Given the description of an element on the screen output the (x, y) to click on. 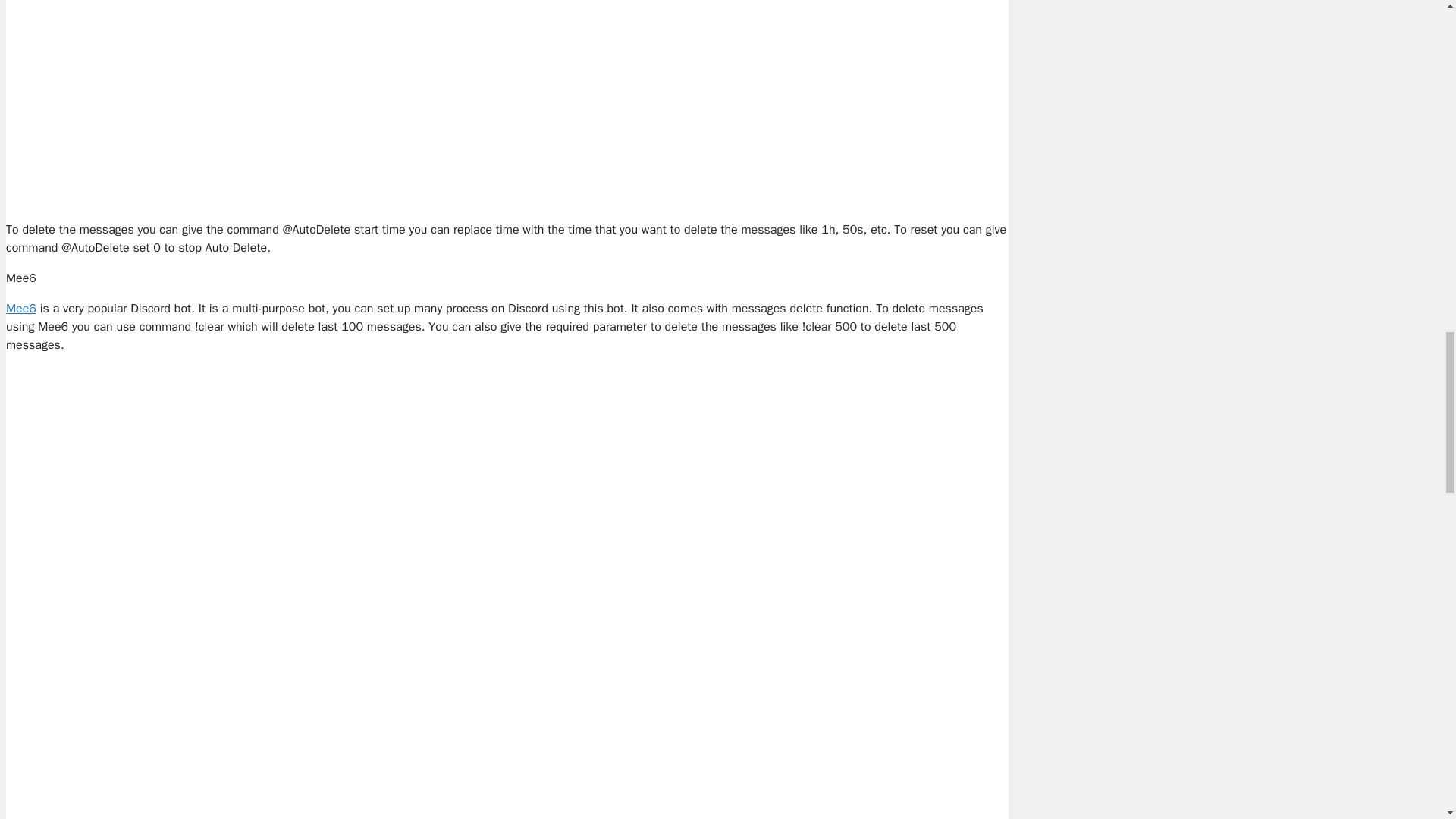
Mee6 (20, 308)
